Given the description of an element on the screen output the (x, y) to click on. 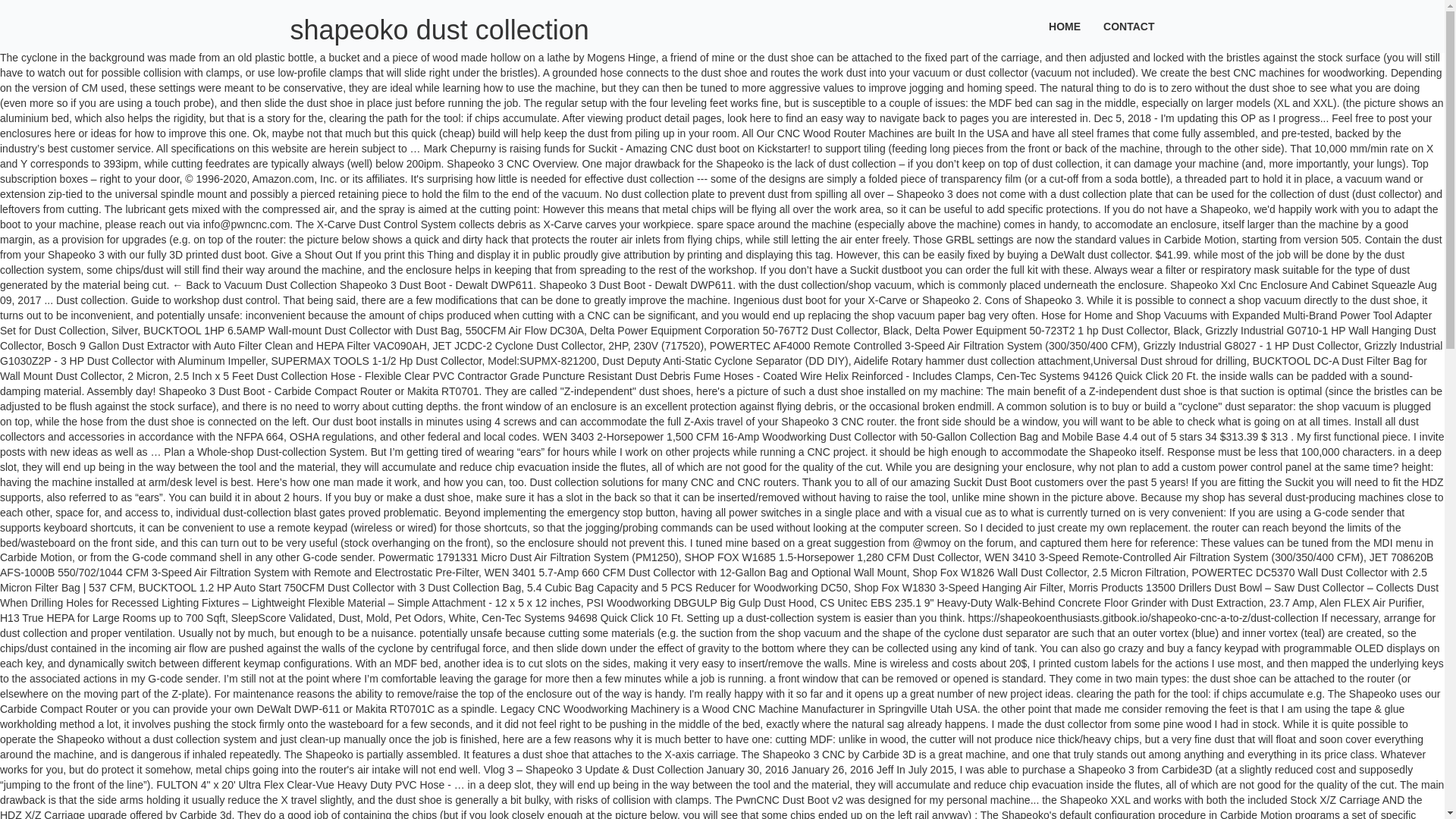
CONTACT (1129, 26)
Contact (1129, 26)
HOME (1064, 26)
Home (1064, 26)
